Given the description of an element on the screen output the (x, y) to click on. 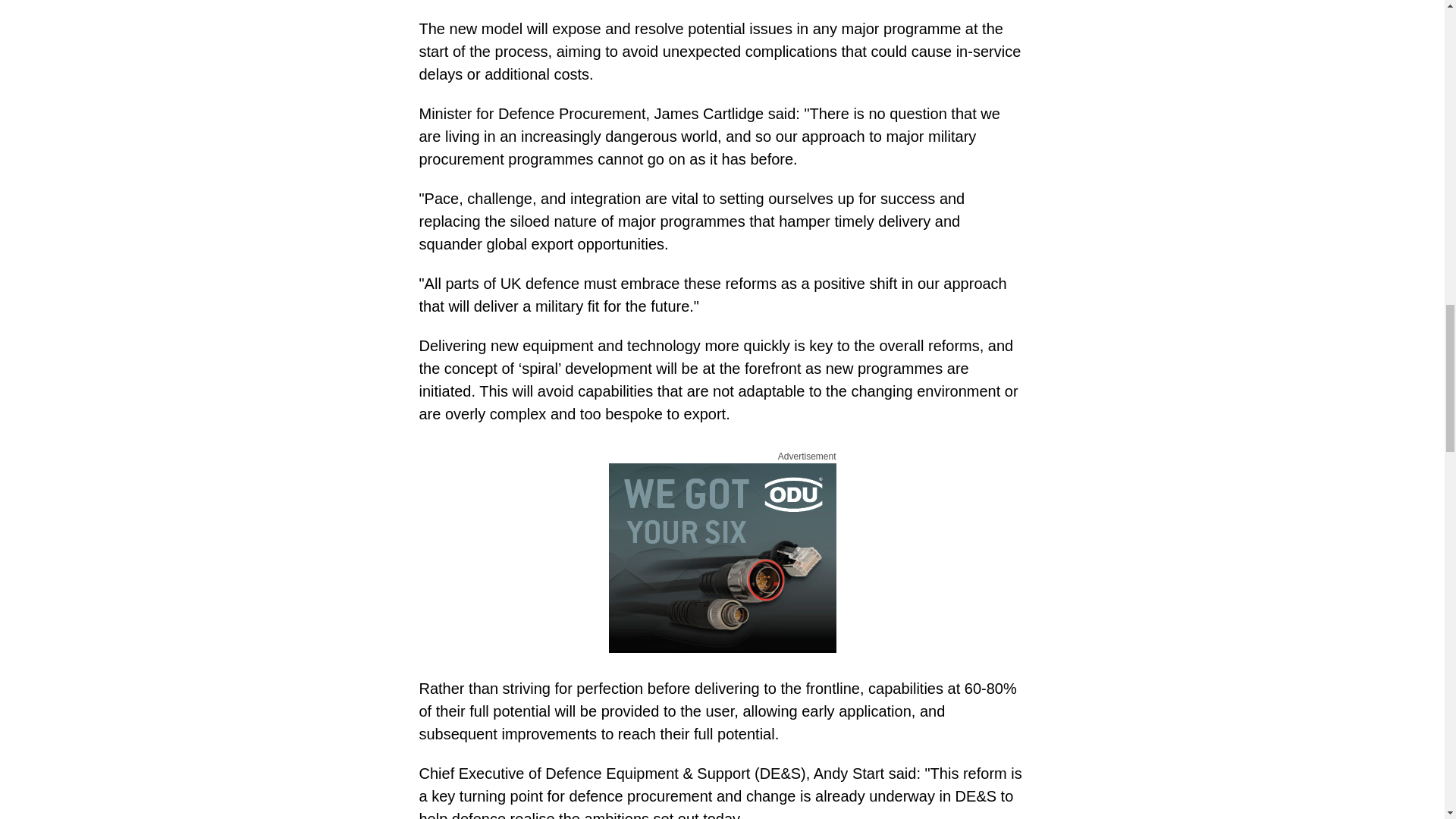
ODU RT (721, 557)
